Given the description of an element on the screen output the (x, y) to click on. 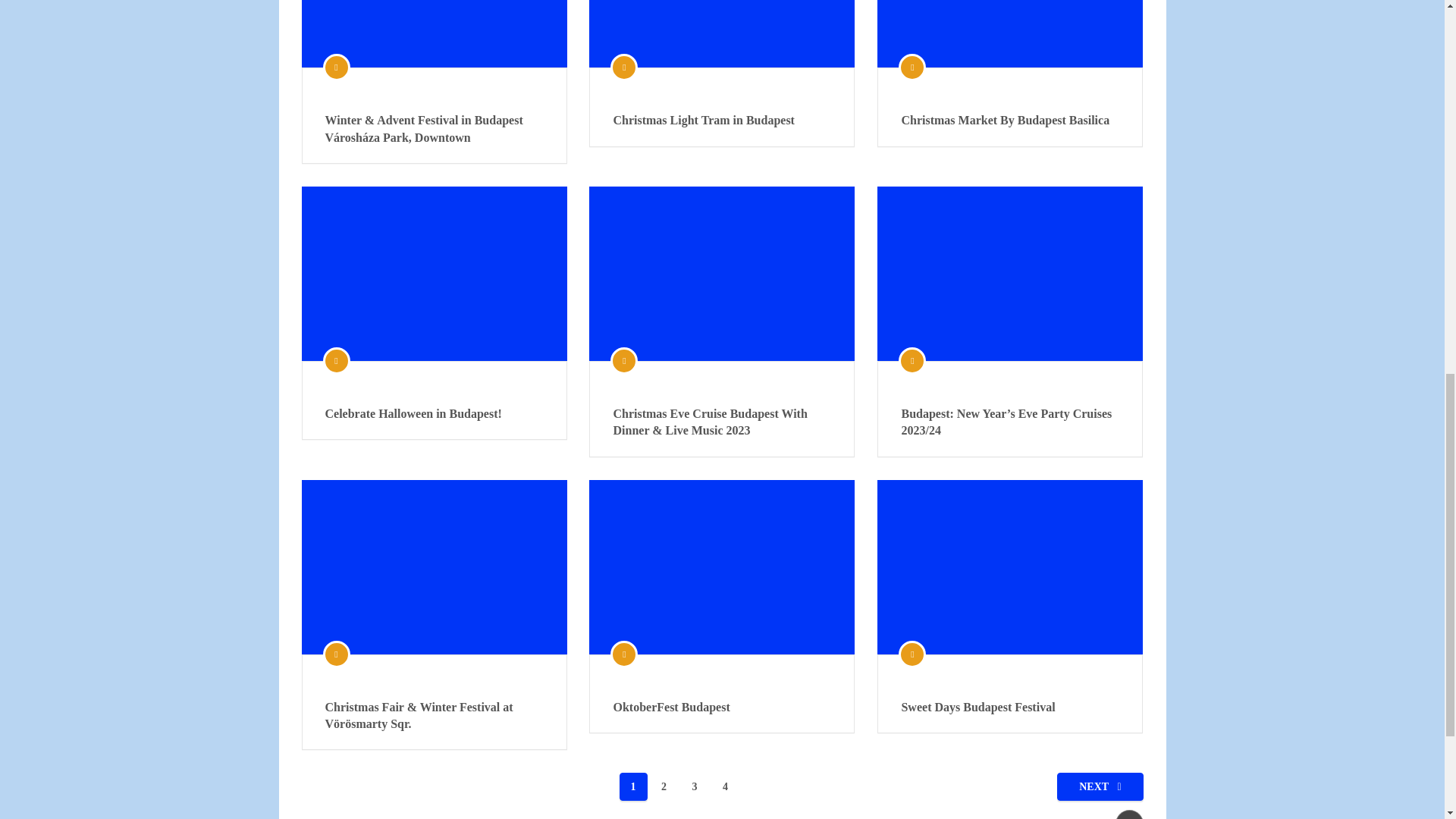
Christmas Market By Budapest Basilica (1009, 33)
Christmas Light Tram in Budapest (721, 120)
Christmas Market By Budapest Basilica (1010, 120)
Christmas Light Tram in Budapest (721, 33)
Celebrate Halloween in Budapest! (434, 273)
